Given the description of an element on the screen output the (x, y) to click on. 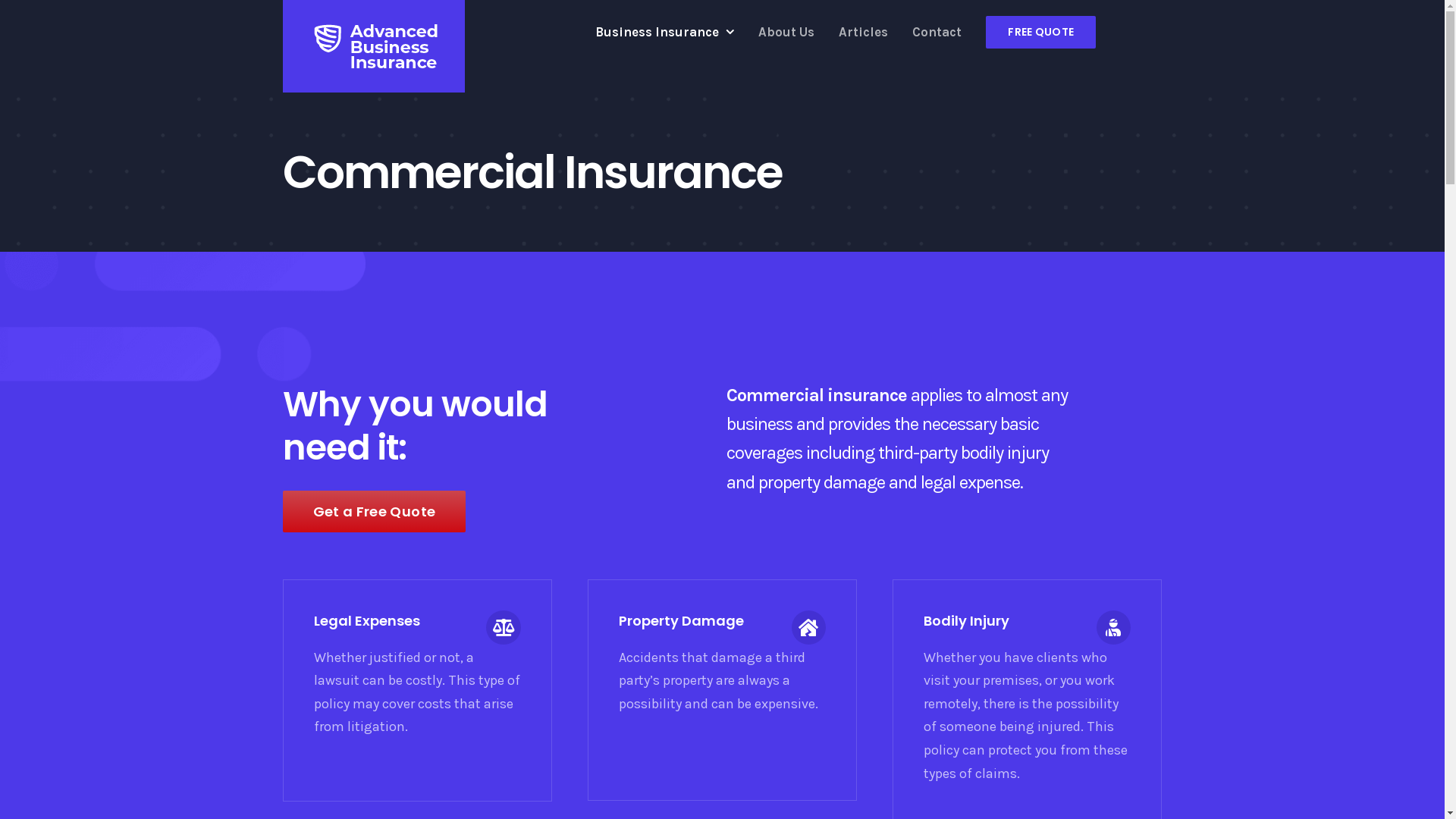
Articles Element type: text (863, 31)
Get a Free Quote Element type: text (373, 511)
Contact Element type: text (936, 31)
Business Insurance Element type: text (664, 31)
About Us Element type: text (786, 31)
FREE QUOTE Element type: text (1040, 31)
